Given the description of an element on the screen output the (x, y) to click on. 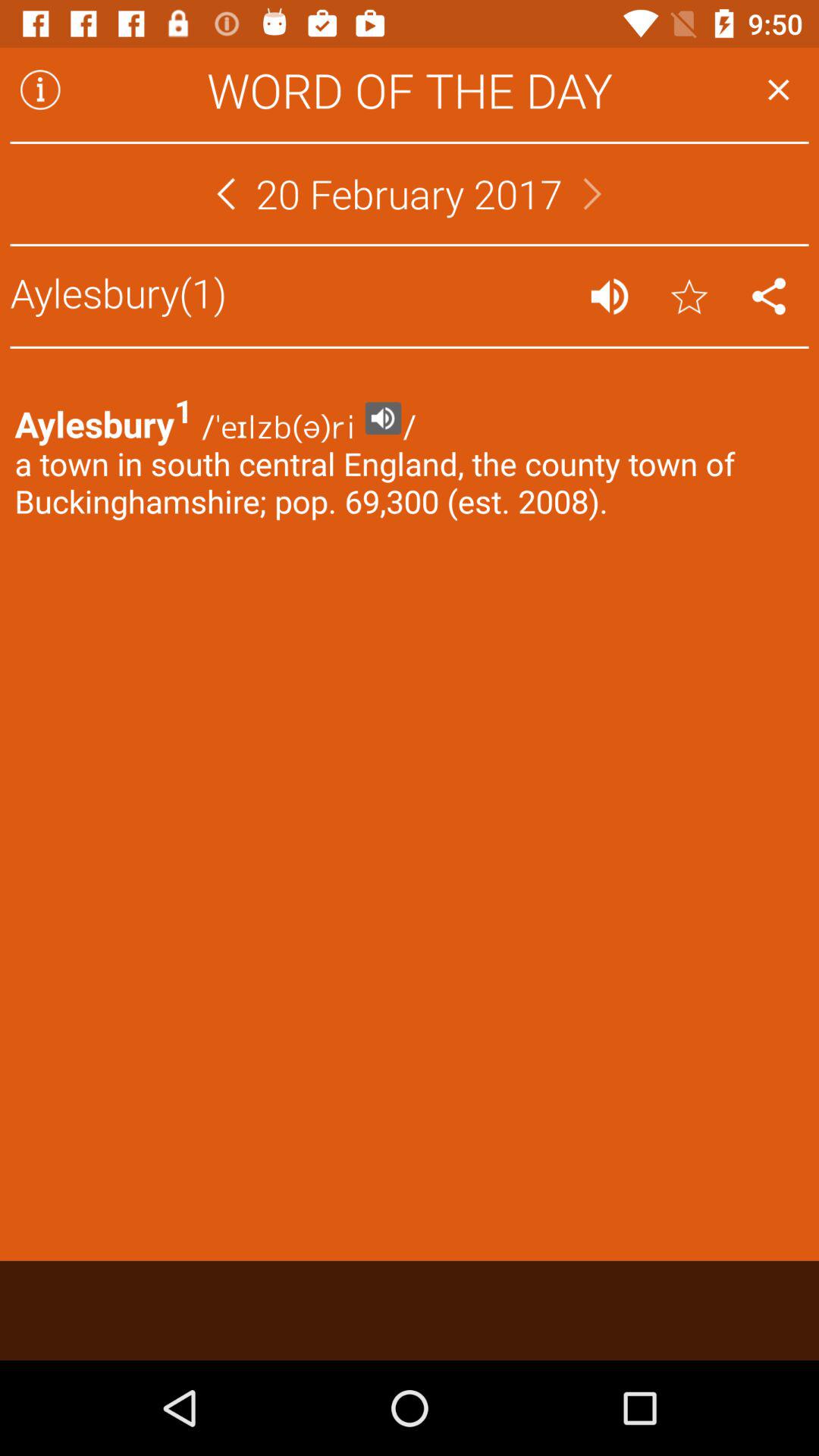
turn on the icon to the right of the 20 february 2017 app (592, 193)
